Given the description of an element on the screen output the (x, y) to click on. 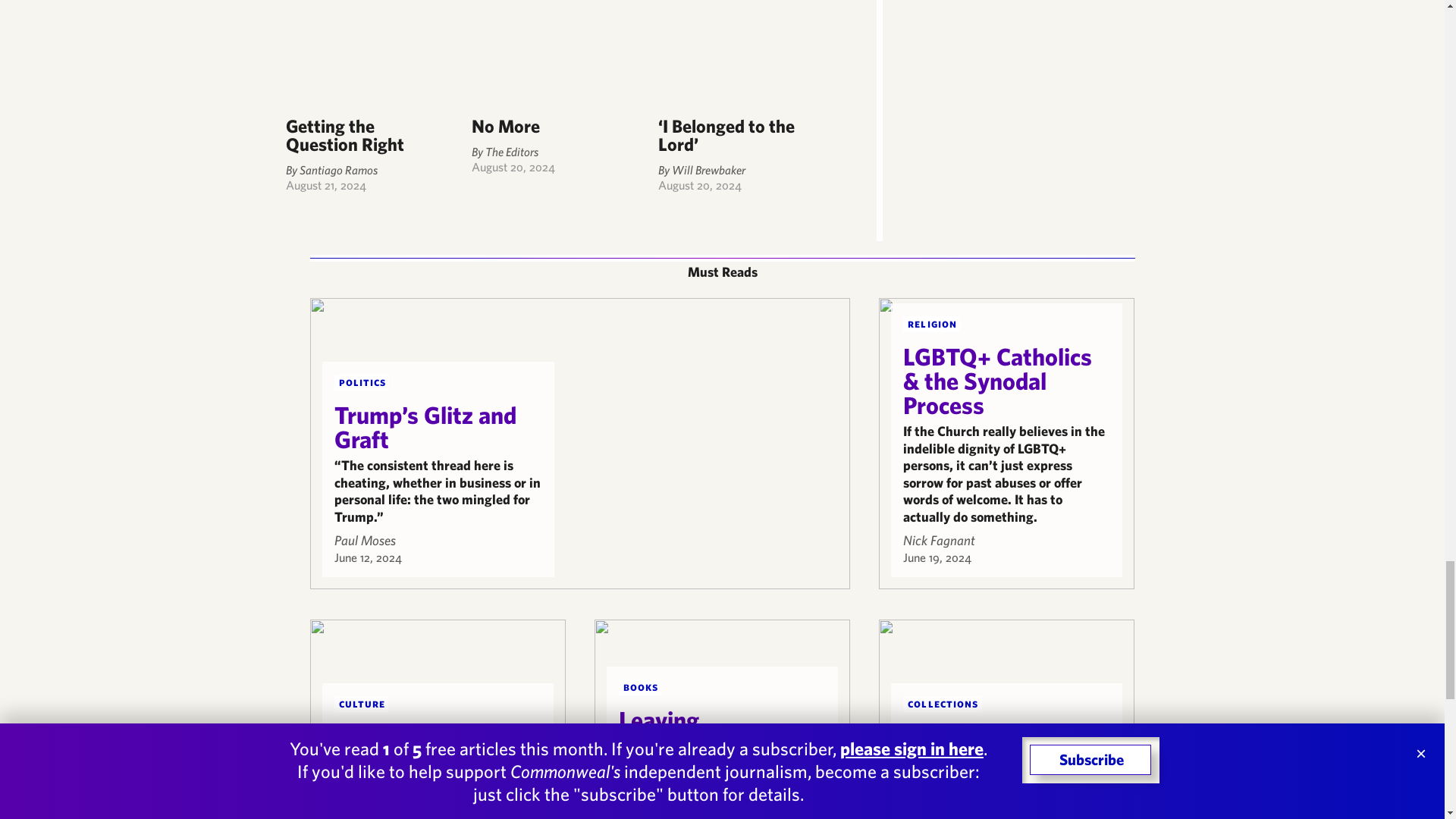
Tuesday, August 20, 2024 - 11:39 (512, 166)
View user profile. (363, 539)
Tuesday, August 20, 2024 - 10:37 (699, 184)
View user profile. (938, 539)
Wednesday, June 19, 2024 - 13:57 (936, 557)
Wednesday, June 12, 2024 - 10:53 (367, 557)
Wednesday, August 21, 2024 - 14:46 (325, 184)
